Given the description of an element on the screen output the (x, y) to click on. 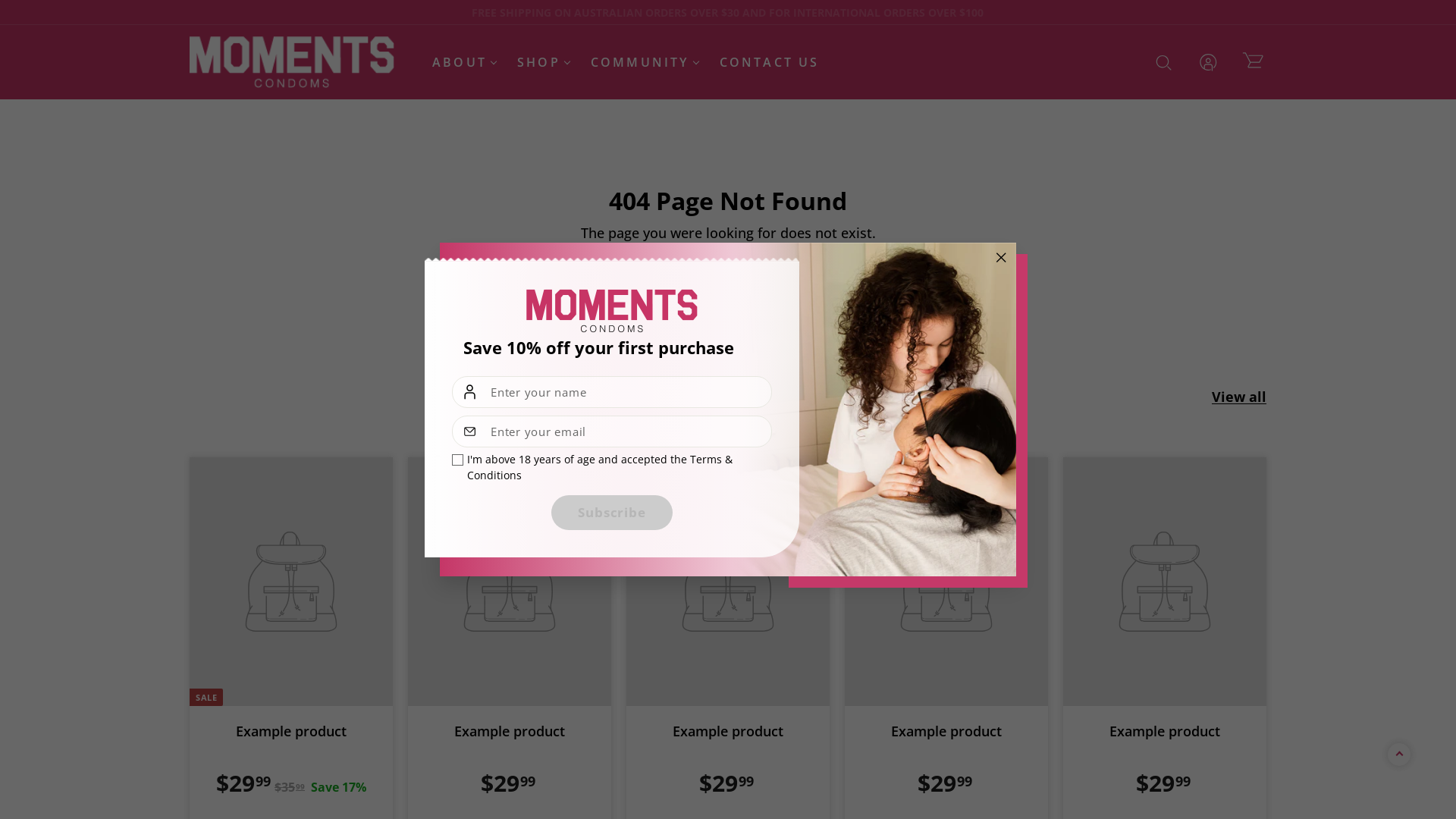
SHOP Element type: text (538, 61)
Example product
$2999
$29.99 Element type: text (727, 636)
ABOUT Element type: text (459, 61)
View all Element type: text (1238, 396)
Example product
$2999
$29.99 Element type: text (946, 636)
ACCOUNT Element type: text (1208, 62)
SEARCH Element type: text (1163, 62)
Subscribe Element type: text (611, 512)
Continue shopping Element type: text (728, 260)
Example product
$2999
$29.99 Element type: text (1164, 636)
"Close (esc)" Element type: text (1000, 257)
CONTACT US Element type: text (769, 61)
COMMUNITY Element type: text (639, 61)
SALE
Example product
$2999
$29.99
$3599
$35.99
Save 17% Element type: text (290, 636)
CART Element type: text (1252, 62)
Example product
$2999
$29.99 Element type: text (509, 636)
